Given the description of an element on the screen output the (x, y) to click on. 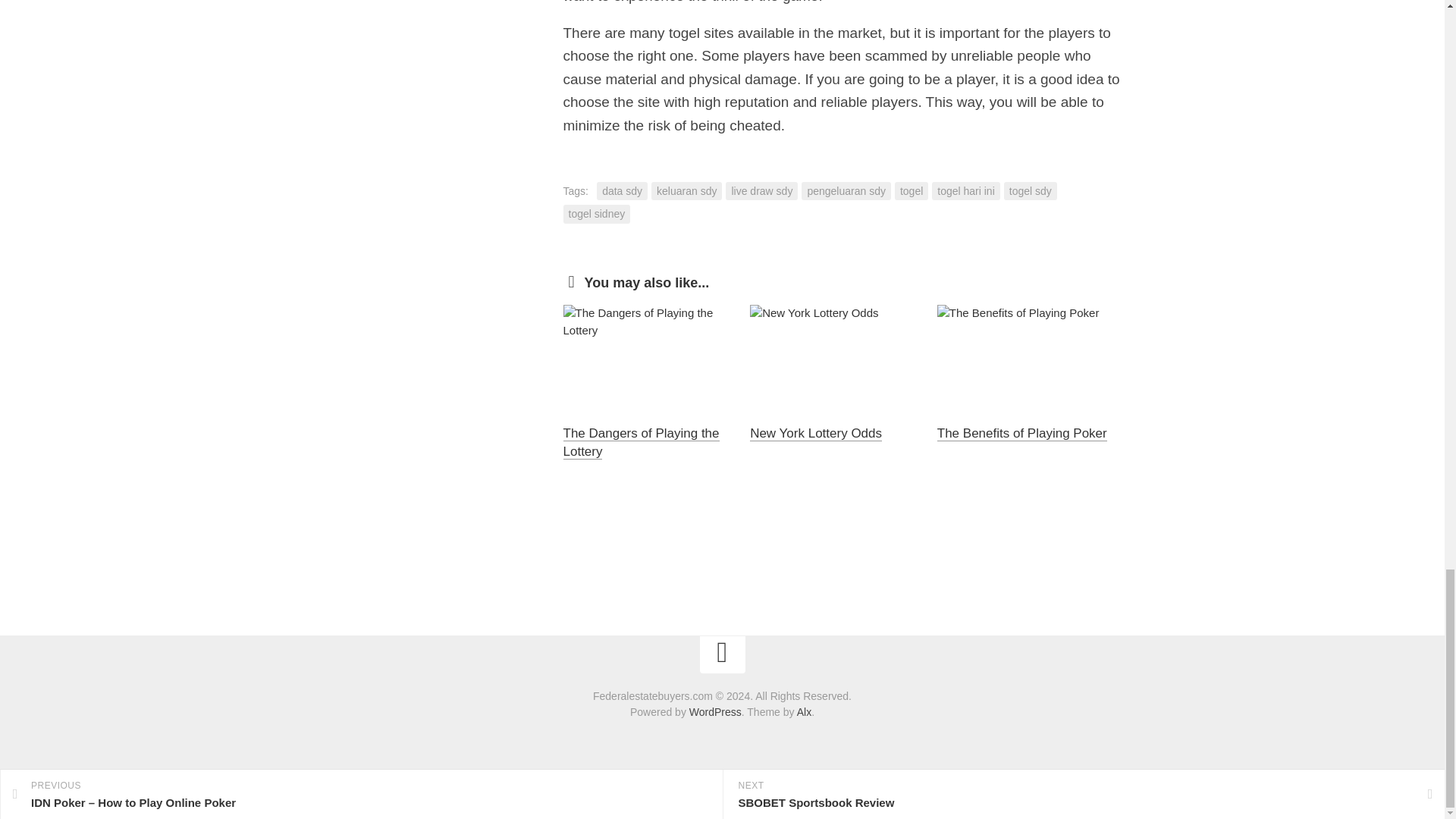
The Benefits of Playing Poker (1021, 432)
togel sdy (1030, 190)
togel (911, 190)
togel hari ini (965, 190)
data sdy (621, 190)
keluaran sdy (686, 190)
The Dangers of Playing the Lottery (640, 441)
togel sidney (596, 213)
live draw sdy (761, 190)
New York Lottery Odds (815, 432)
pengeluaran sdy (846, 190)
